Given the description of an element on the screen output the (x, y) to click on. 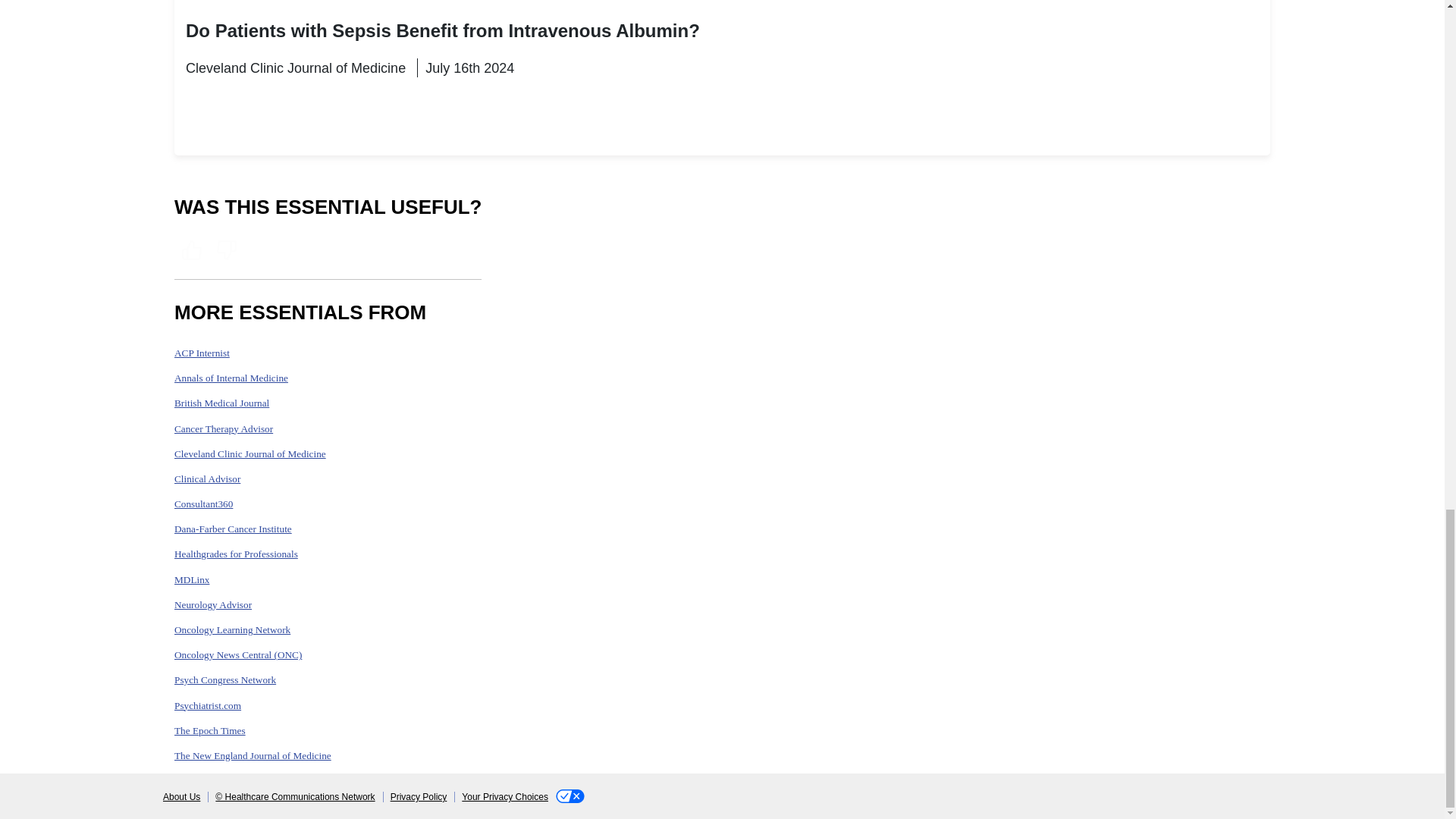
About Us (181, 796)
